Given the description of an element on the screen output the (x, y) to click on. 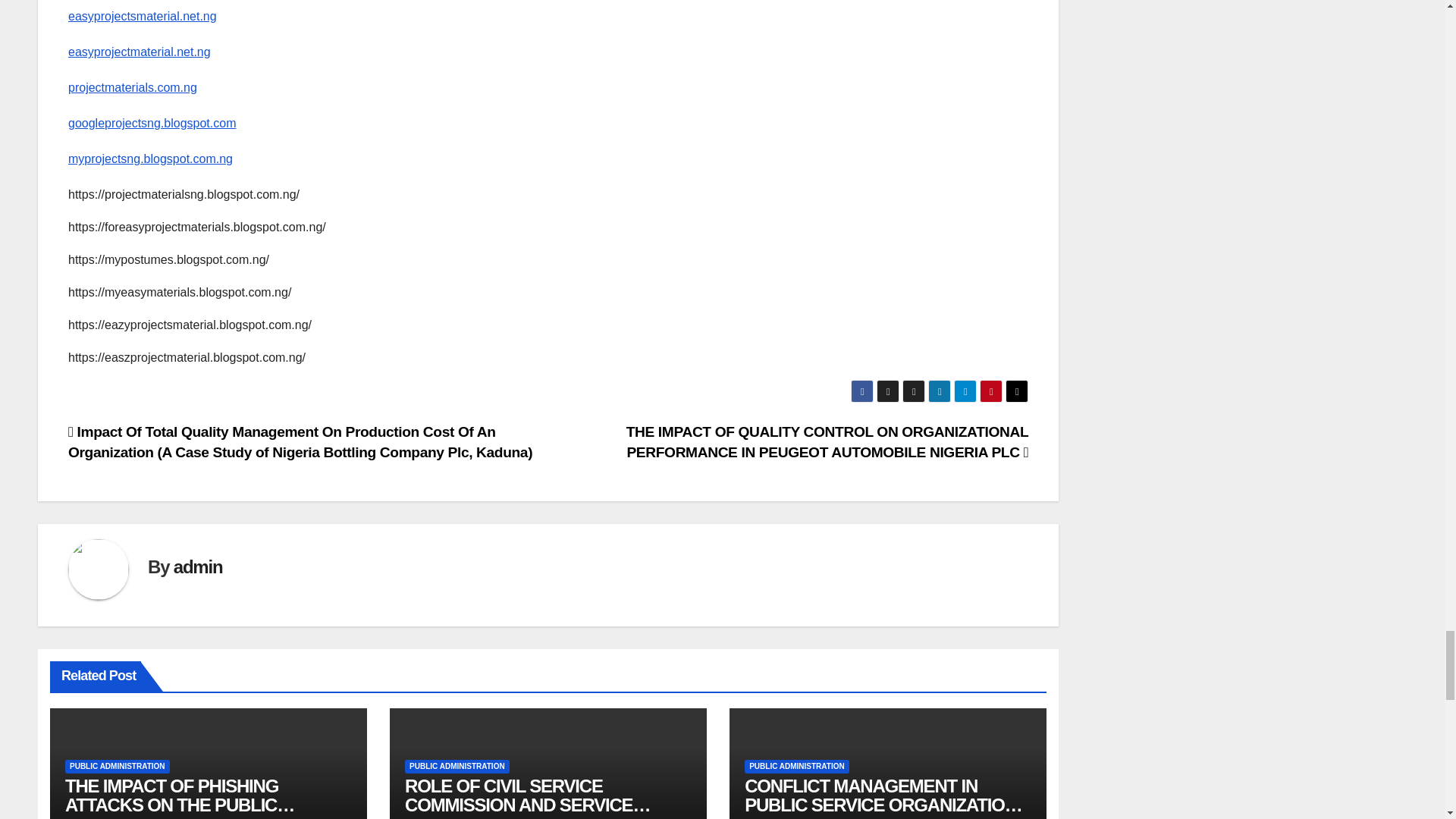
googleprojectsng.blogspot.com (151, 123)
admin (197, 566)
PUBLIC ADMINISTRATION (117, 766)
easyprojectmaterial.net.ng (139, 51)
easyprojectsmaterial.net.ng (142, 15)
myprojectsng.blogspot.com.ng (150, 158)
projectmaterials.com.ng (132, 87)
